Given the description of an element on the screen output the (x, y) to click on. 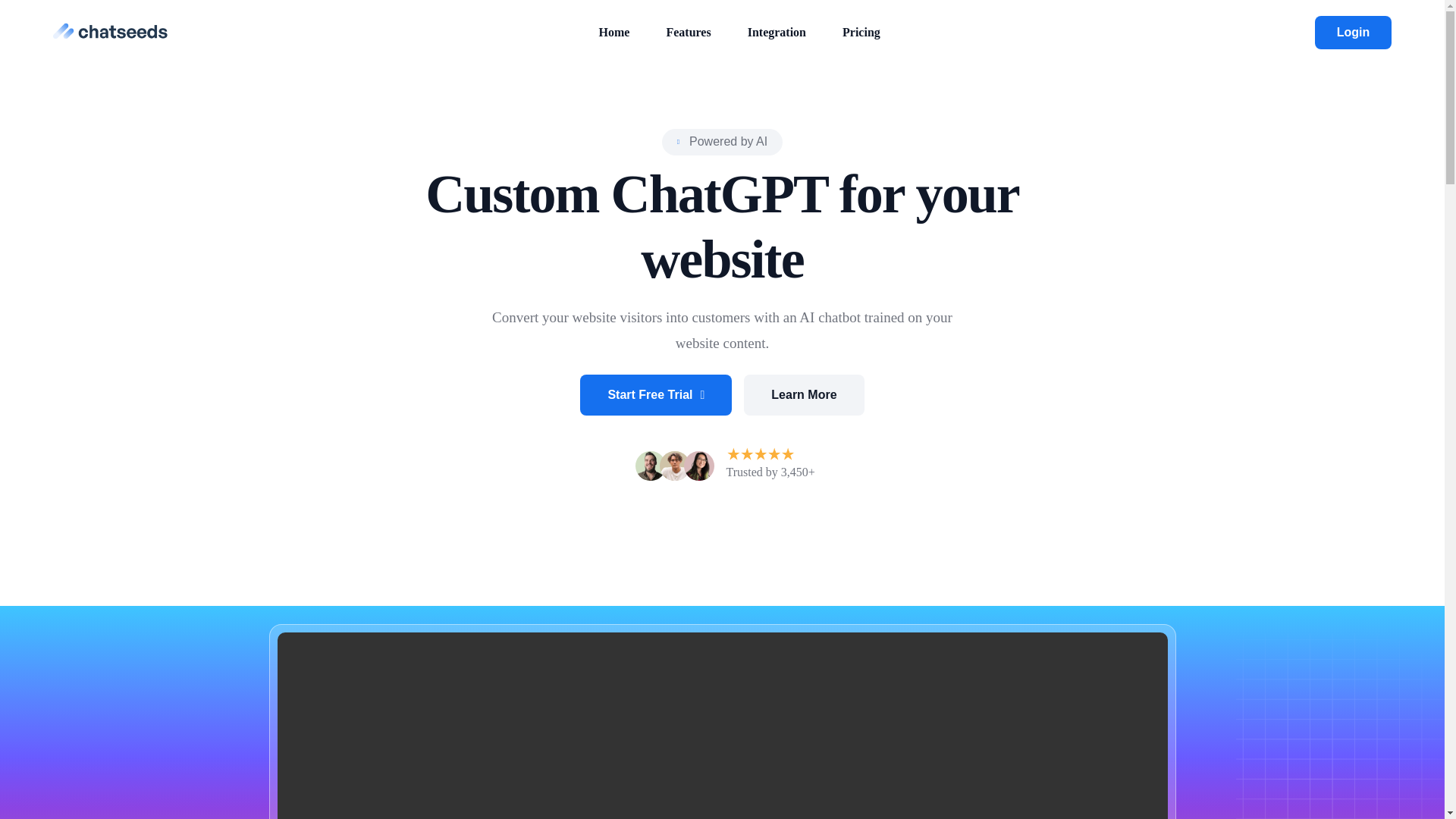
Integration (776, 32)
Start Free Trial (655, 394)
Features (688, 32)
Learn More (803, 394)
Home (613, 32)
Login (1352, 32)
Pricing (861, 32)
